Given the description of an element on the screen output the (x, y) to click on. 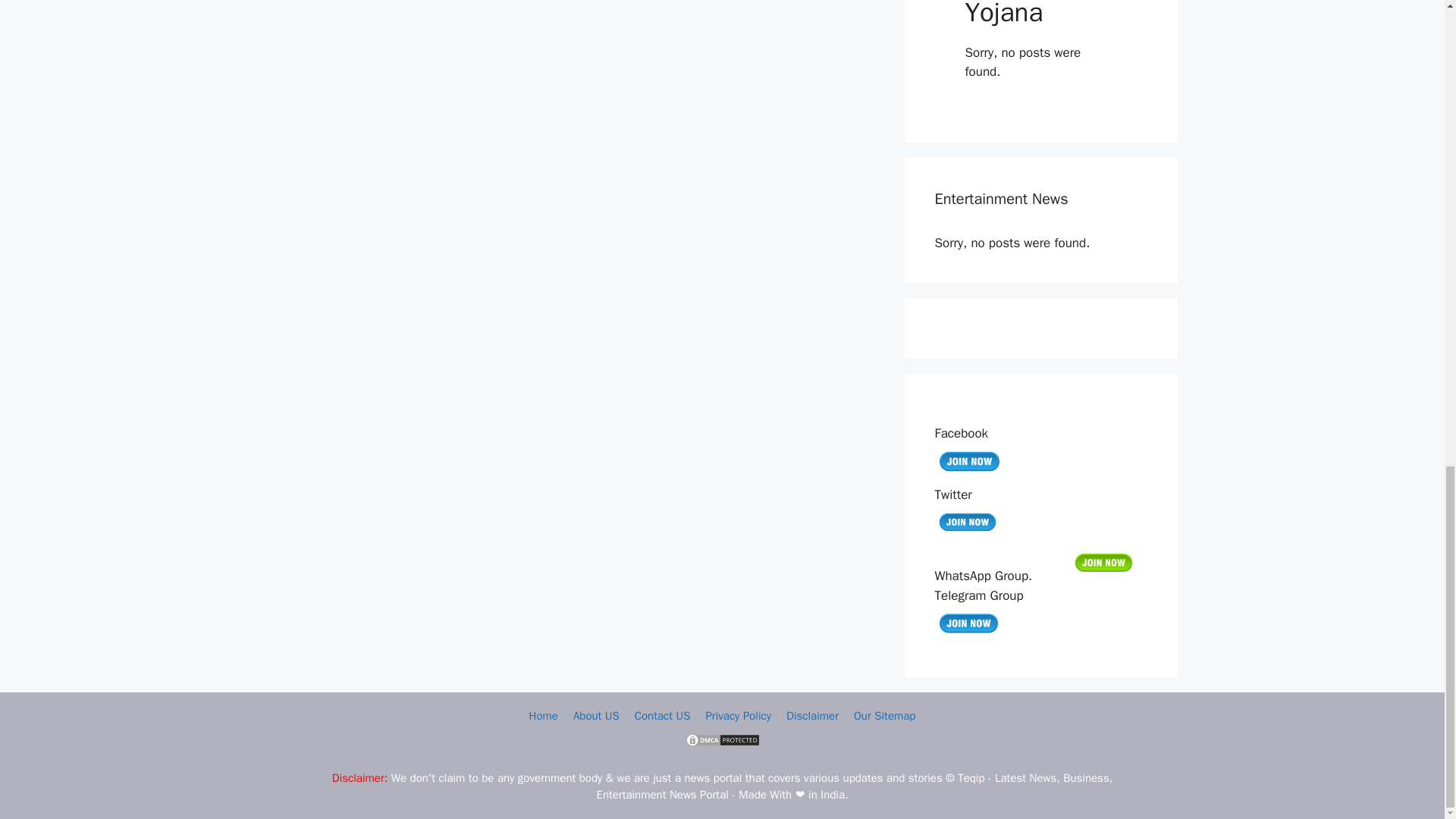
About US (596, 715)
Privacy Policy (737, 715)
Home (543, 715)
Contact US (662, 715)
DMCA.com Protection Status (722, 744)
Disclaimer (812, 715)
Our Sitemap (884, 715)
